Given the description of an element on the screen output the (x, y) to click on. 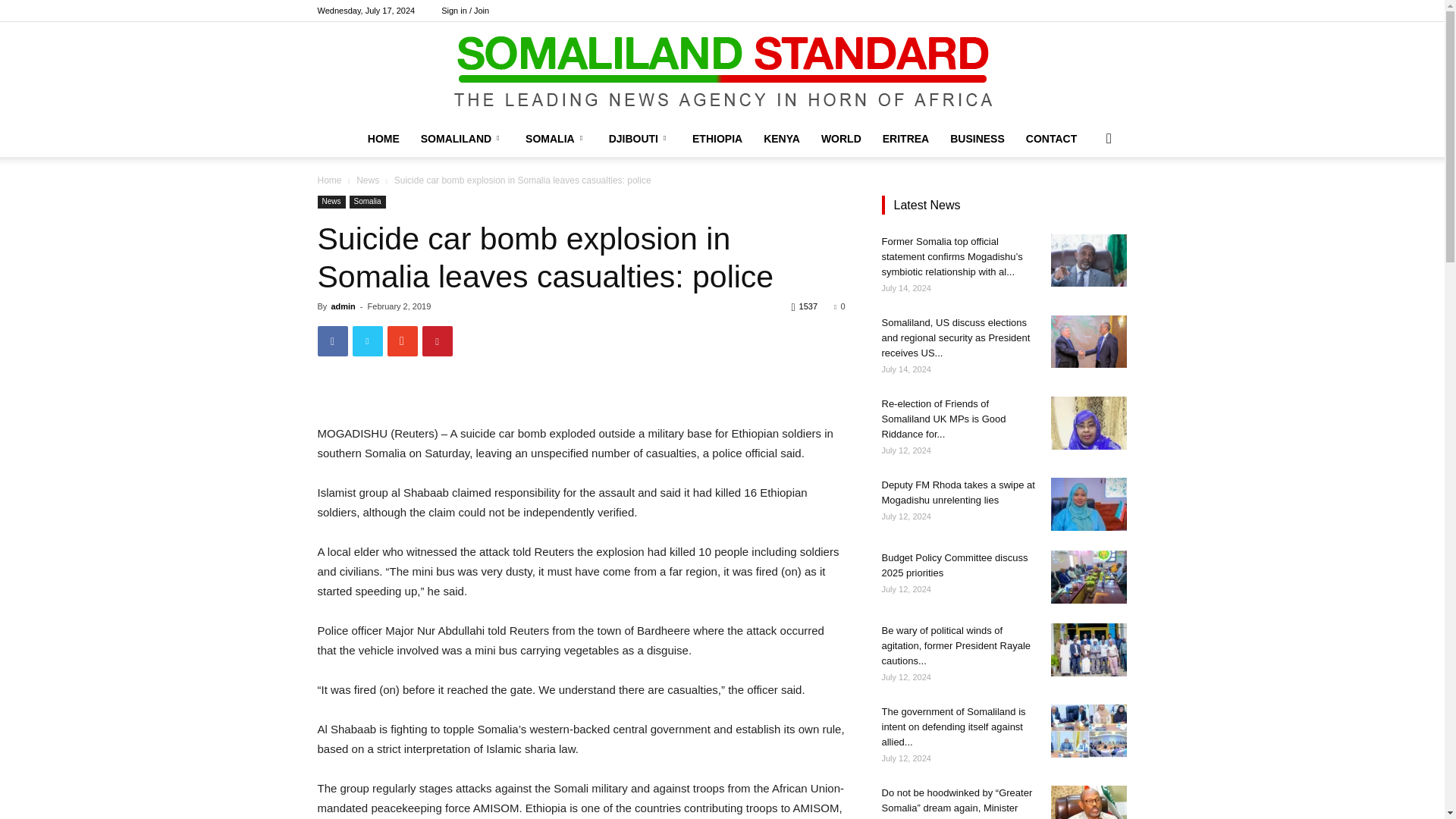
Youtube (1114, 10)
Twitter (1090, 10)
SOMALILAND (462, 138)
Facebook (1040, 10)
HOME (383, 138)
